Given the description of an element on the screen output the (x, y) to click on. 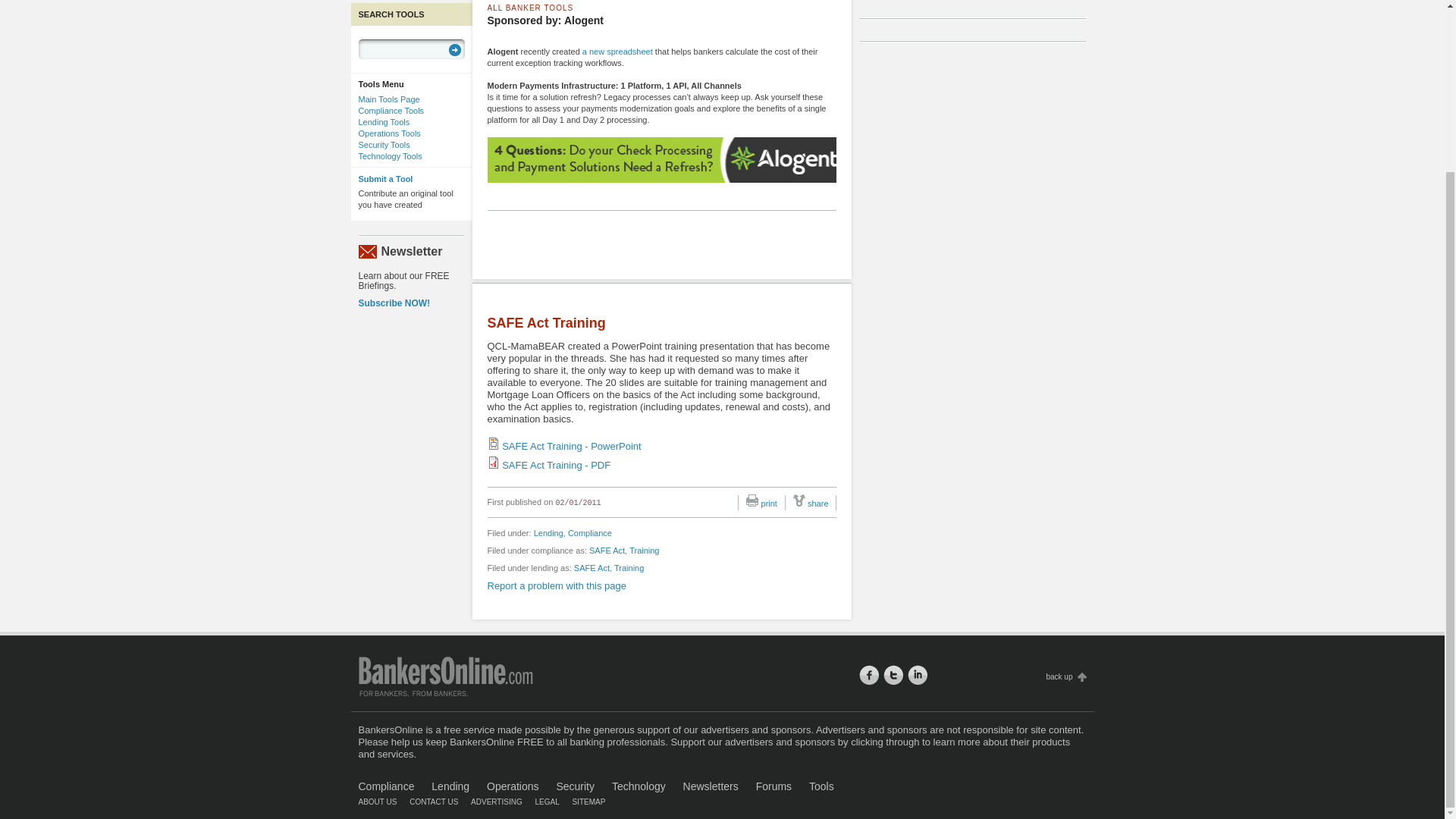
Search (454, 50)
